Given the description of an element on the screen output the (x, y) to click on. 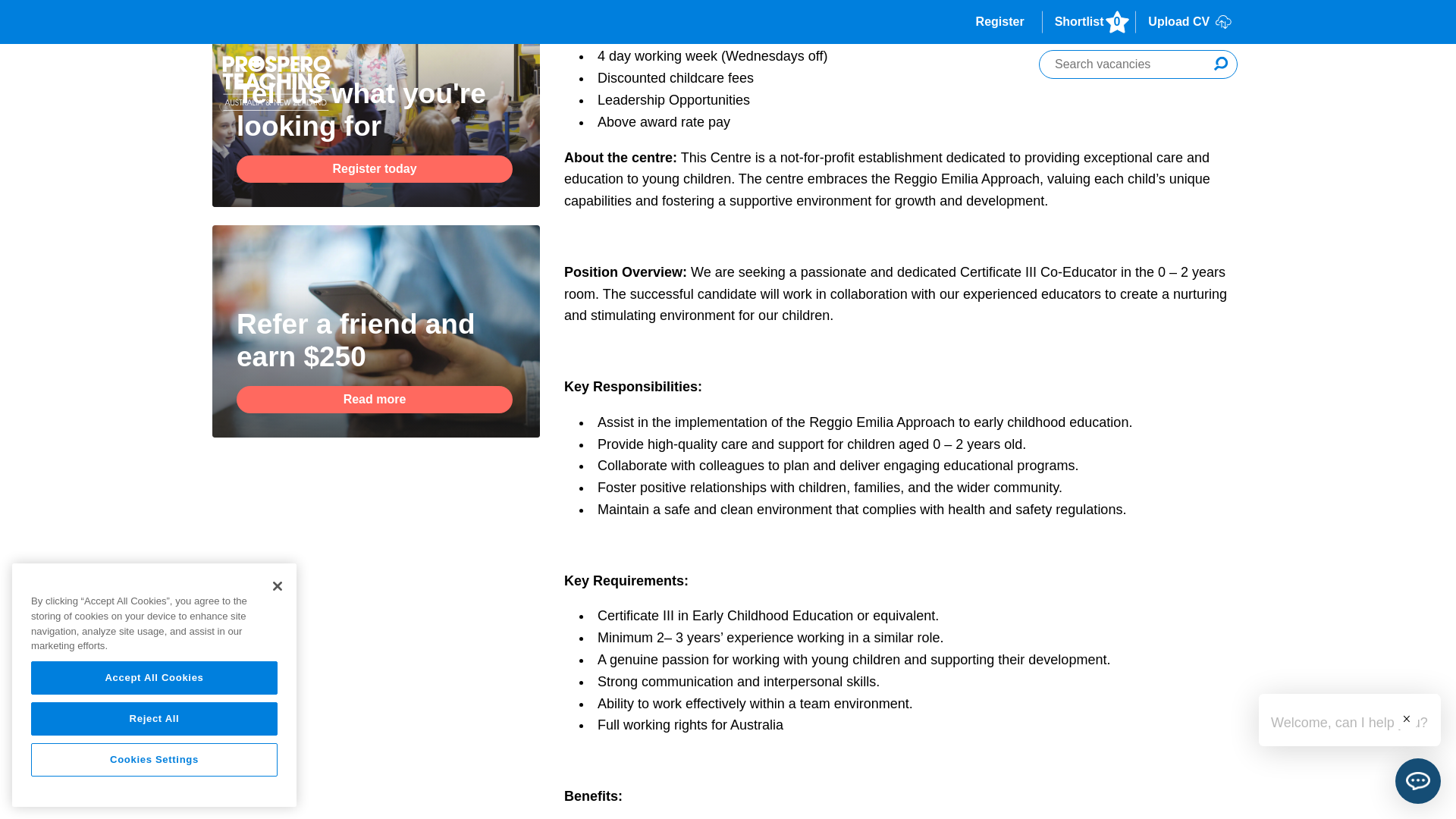
Read more (373, 399)
Register today (373, 168)
